Given the description of an element on the screen output the (x, y) to click on. 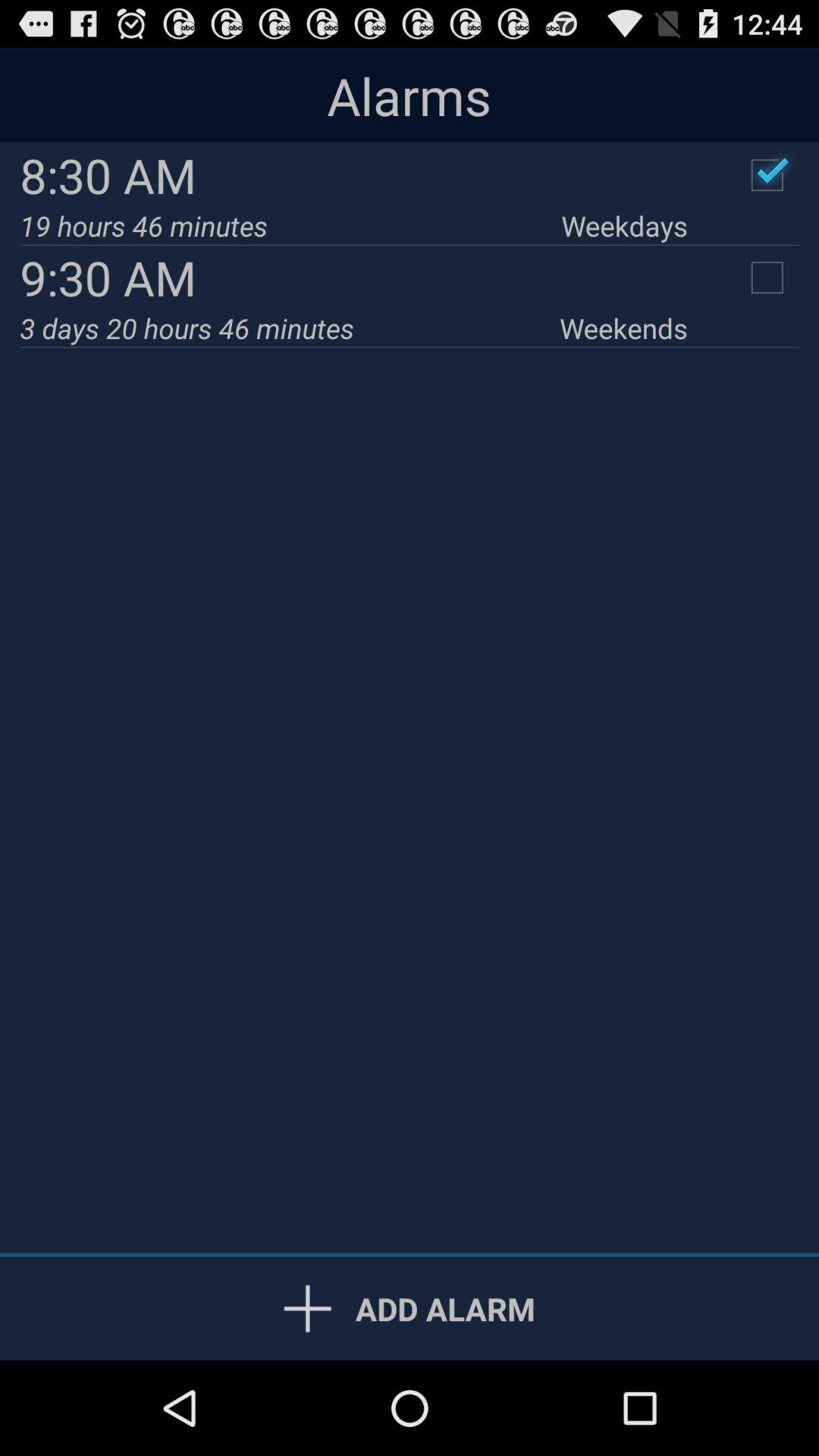
go to select option (767, 175)
